Given the description of an element on the screen output the (x, y) to click on. 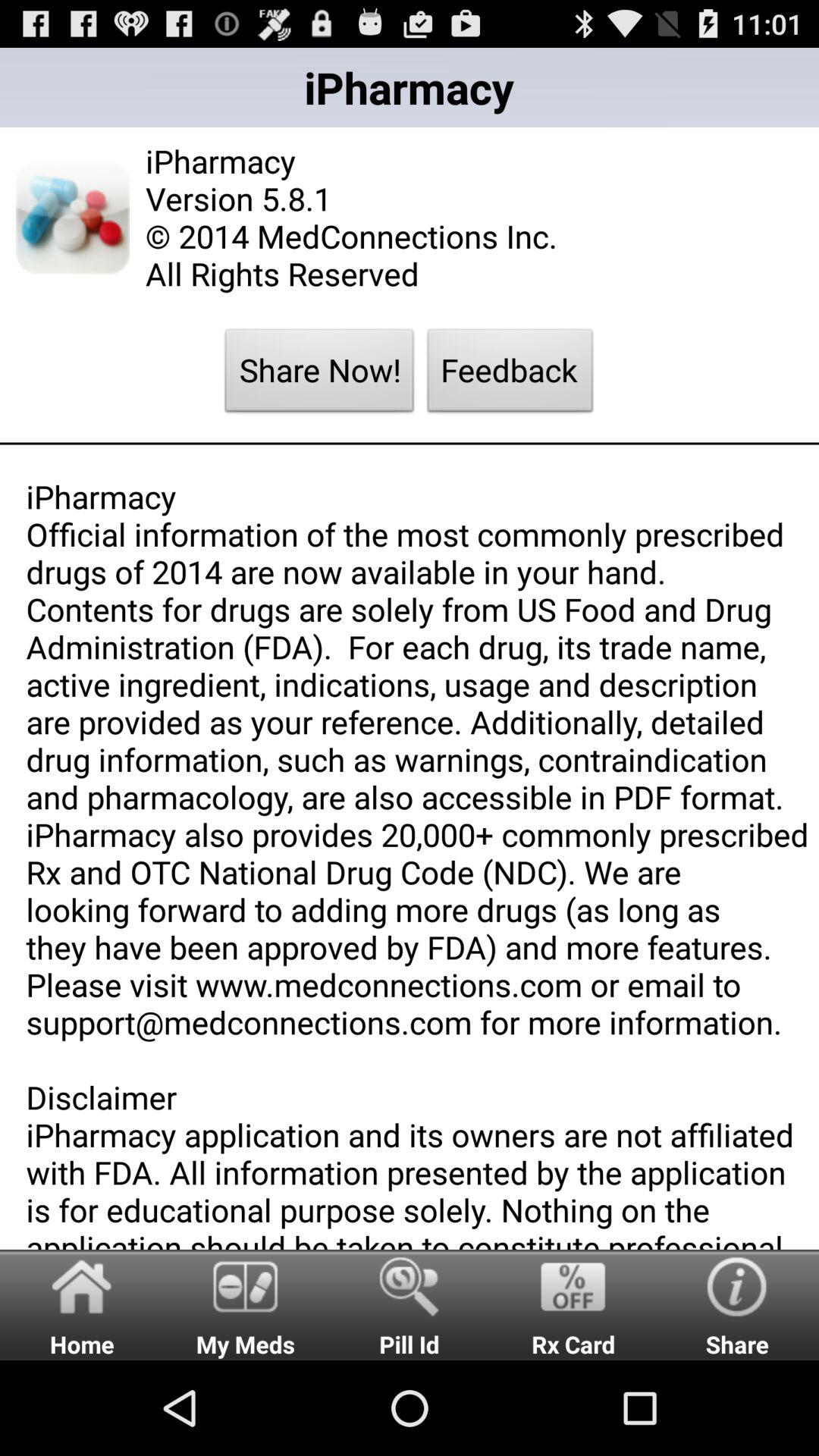
open the icon next to pill id item (573, 1304)
